Given the description of an element on the screen output the (x, y) to click on. 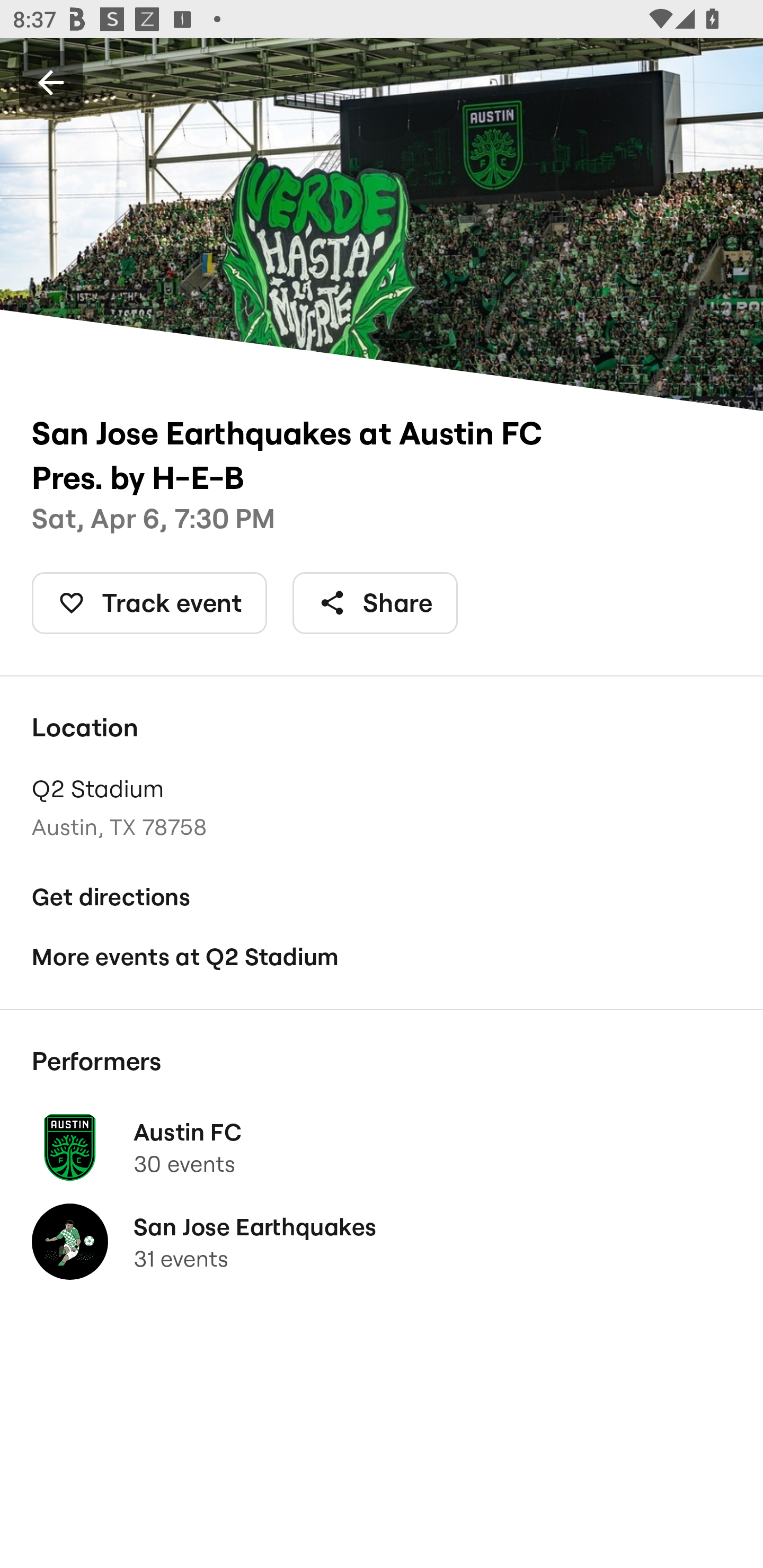
Back (50, 81)
Track event (149, 602)
Share (374, 602)
Get directions (381, 896)
More events at Q2 Stadium (381, 956)
Austin FC 30 events (381, 1146)
San Jose Earthquakes 31 events (381, 1241)
